Given the description of an element on the screen output the (x, y) to click on. 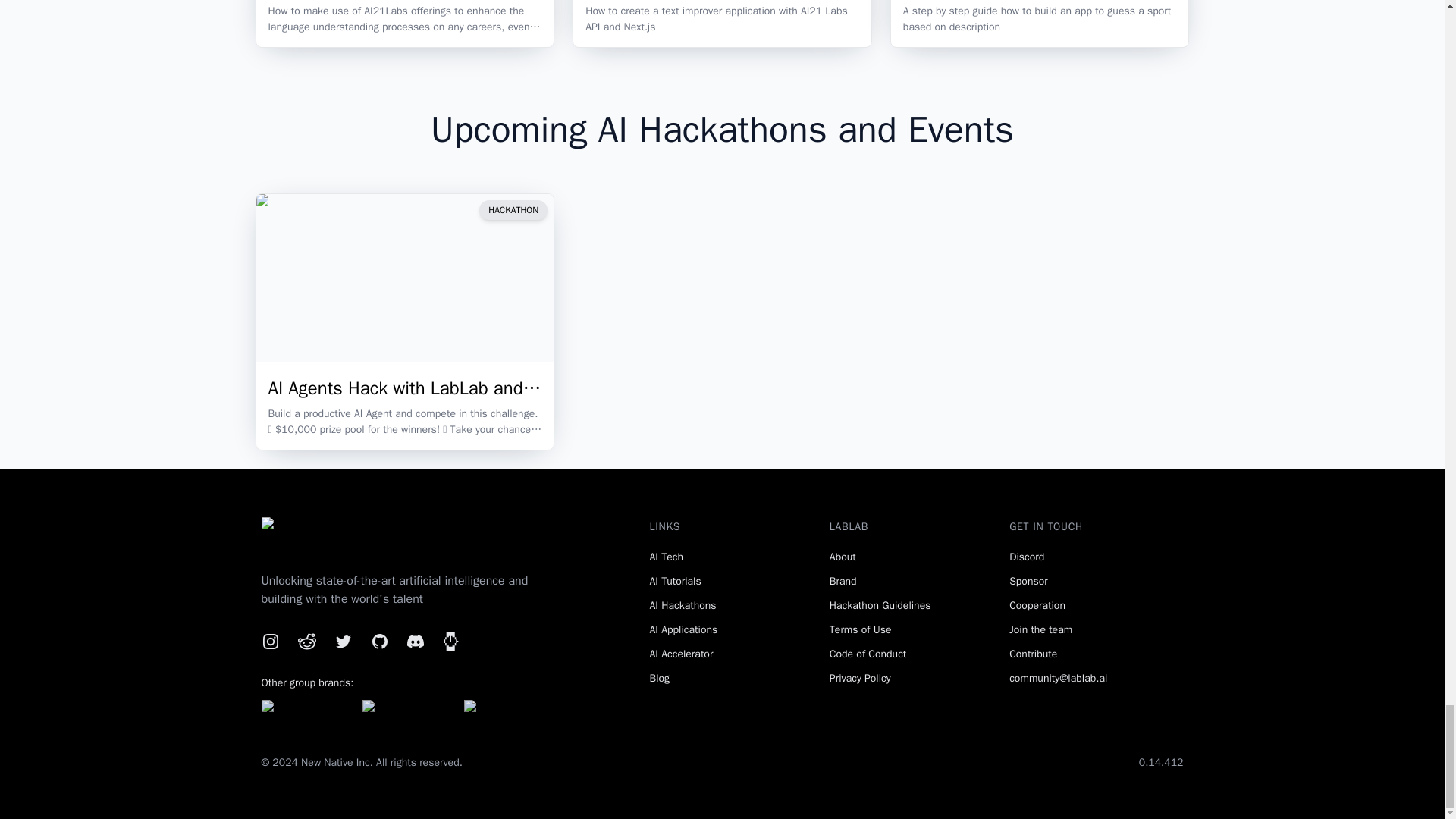
Reddit (306, 641)
Instagram (269, 641)
HACKATHON (513, 209)
